Given the description of an element on the screen output the (x, y) to click on. 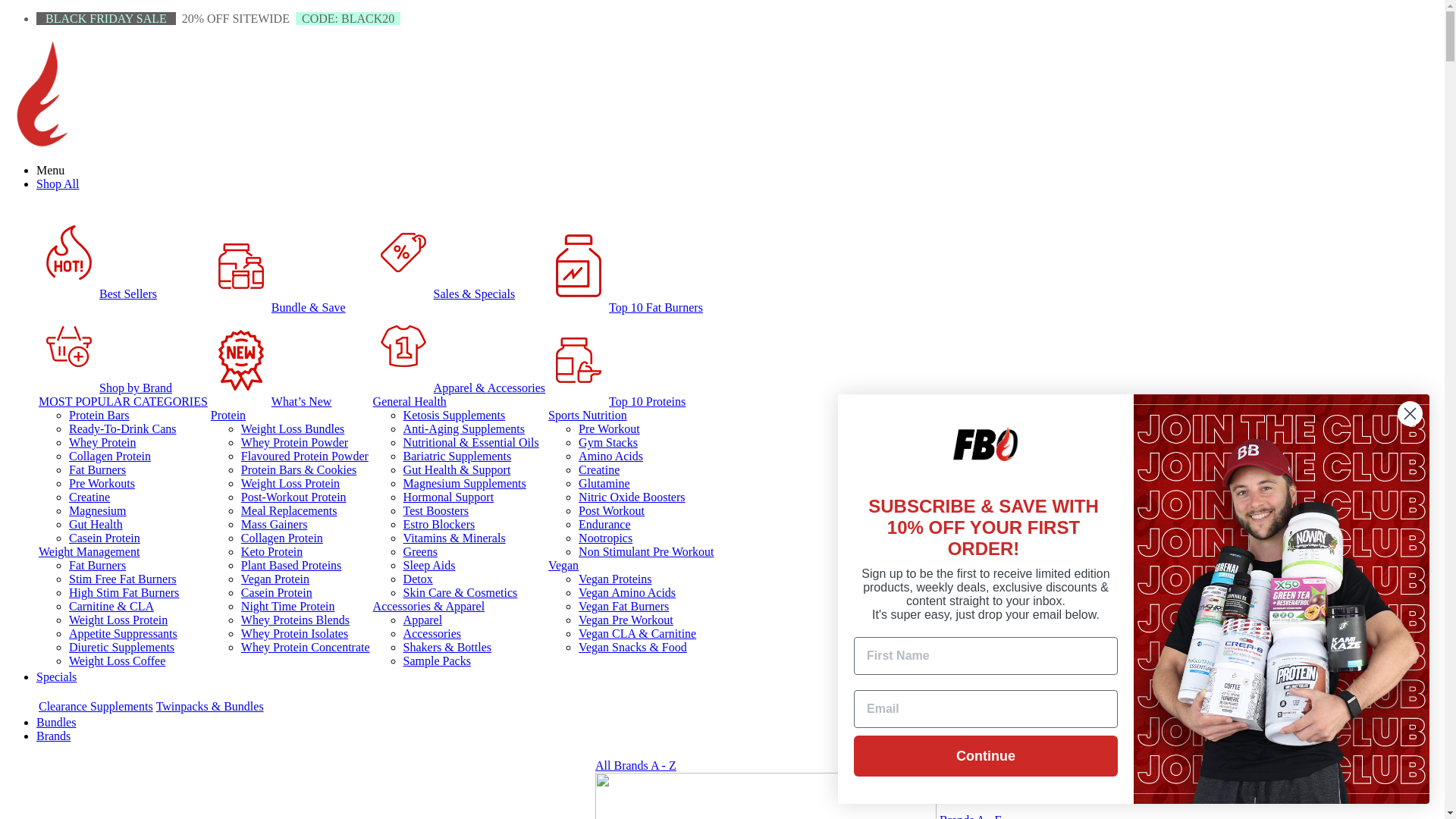
Night Time Protein Element type: text (288, 605)
Detox Element type: text (418, 578)
Specials Element type: text (56, 676)
Hormonal Support Element type: text (448, 496)
High Stim Fat Burners Element type: text (123, 592)
Sports Nutrition Element type: text (587, 414)
Whey Protein Element type: text (102, 442)
Pre Workout Element type: text (609, 428)
Bundle & Save Element type: text (277, 307)
Endurance Element type: text (604, 523)
Fat Burners Element type: text (97, 469)
Shop All Element type: text (57, 183)
Vegan Protein Element type: text (275, 578)
Ready-To-Drink Cans Element type: text (122, 428)
Brands Element type: text (53, 735)
Vegan CLA & Carnitine Element type: text (637, 633)
Non Stimulant Pre Workout Element type: text (645, 551)
Protein Bars Element type: text (99, 414)
Keto Protein Element type: text (271, 551)
Menu Element type: text (50, 169)
Glutamine Element type: text (604, 482)
Collagen Protein Element type: text (282, 537)
Best Sellers Element type: text (97, 293)
Meal Replacements Element type: text (289, 510)
Gut Health Element type: text (95, 523)
Magnesium Element type: text (97, 510)
Top 10 Proteins Element type: hover (578, 359)
Nutritional & Essential Oils Element type: text (471, 442)
Creatine Element type: text (598, 469)
Protein Bars & Cookies Element type: text (298, 469)
Test Boosters Element type: text (435, 510)
Bundle & Save Element type: hover (240, 265)
Vegan Pre Workout Element type: text (625, 619)
Greens Element type: text (420, 551)
Magnesium Supplements Element type: text (464, 482)
Whey Protein Isolates Element type: text (294, 633)
Weight Loss Coffee Element type: text (117, 660)
Top 10 Proteins Element type: text (616, 401)
Apparel & Accessories Element type: text (459, 387)
Weight Loss Protein Element type: text (290, 482)
Weight Management Element type: text (88, 551)
Gut Health & Support Element type: text (457, 469)
Vegan Fat Burners Element type: text (623, 605)
Accessories & Apparel Element type: text (429, 605)
Stim Free Fat Burners Element type: text (122, 578)
Shop by Brand Element type: text (105, 387)
Vegan Element type: text (563, 564)
Whey Proteins Blends Element type: text (295, 619)
Plant Based Proteins Element type: text (291, 564)
Ketosis Supplements Element type: text (454, 414)
Casein Protein Element type: text (276, 592)
Post Workout Element type: text (611, 510)
Whey Protein Powder Element type: text (294, 442)
Creatine Element type: text (89, 496)
Gym Stacks Element type: text (607, 442)
Amino Acids Element type: text (610, 455)
Weight Loss Bundles Element type: text (292, 428)
Skin Care & Cosmetics Element type: text (460, 592)
Fat Burners Element type: text (97, 564)
Diuretic Supplements Element type: text (121, 646)
Shop by Brand Element type: hover (68, 346)
Carnitine & CLA Element type: text (111, 605)
Vegan Proteins Element type: text (614, 578)
Appetite Suppressants Element type: text (123, 633)
Clearance Supplements Element type: text (95, 705)
Collagen Protein Element type: text (109, 455)
Top 10 Fat Burners Element type: text (625, 307)
MOST POPULAR CATEGORIES Element type: text (122, 401)
Whey Protein Concentrate Element type: text (305, 646)
Vegan Amino Acids Element type: text (626, 592)
Apparel Element type: text (422, 619)
Estro Blockers Element type: text (439, 523)
Twinpacks & Bundles Element type: text (209, 705)
Protein Element type: text (227, 414)
Flavoured Protein Powder Element type: text (304, 455)
Vitamins & Minerals Element type: text (454, 537)
Sales & Specials Element type: text (444, 293)
Pre Workouts Element type: text (101, 482)
Anti-Aging Supplements Element type: text (463, 428)
Weight Loss Protein Element type: text (118, 619)
Sleep Aids Element type: text (429, 564)
Bundles Element type: text (55, 721)
Sales & Specials Element type: hover (403, 252)
Sample Packs Element type: text (436, 660)
Mass Gainers Element type: text (274, 523)
General Health Element type: text (409, 401)
All Brands A - Z Element type: text (635, 765)
Accessories Element type: text (432, 633)
Nitric Oxide Boosters Element type: text (631, 496)
Shakers & Bottles Element type: text (447, 646)
Apparel & Accessories Element type: hover (403, 346)
Best Sellers Element type: hover (68, 252)
Casein Protein Element type: text (104, 537)
Top 10 Fat Burners Element type: hover (578, 265)
Nootropics Element type: text (605, 537)
Submit Element type: text (21, 7)
Post-Workout Protein Element type: text (293, 496)
Vegan Snacks & Food Element type: text (632, 646)
Bariatric Supplements Element type: text (457, 455)
